Given the description of an element on the screen output the (x, y) to click on. 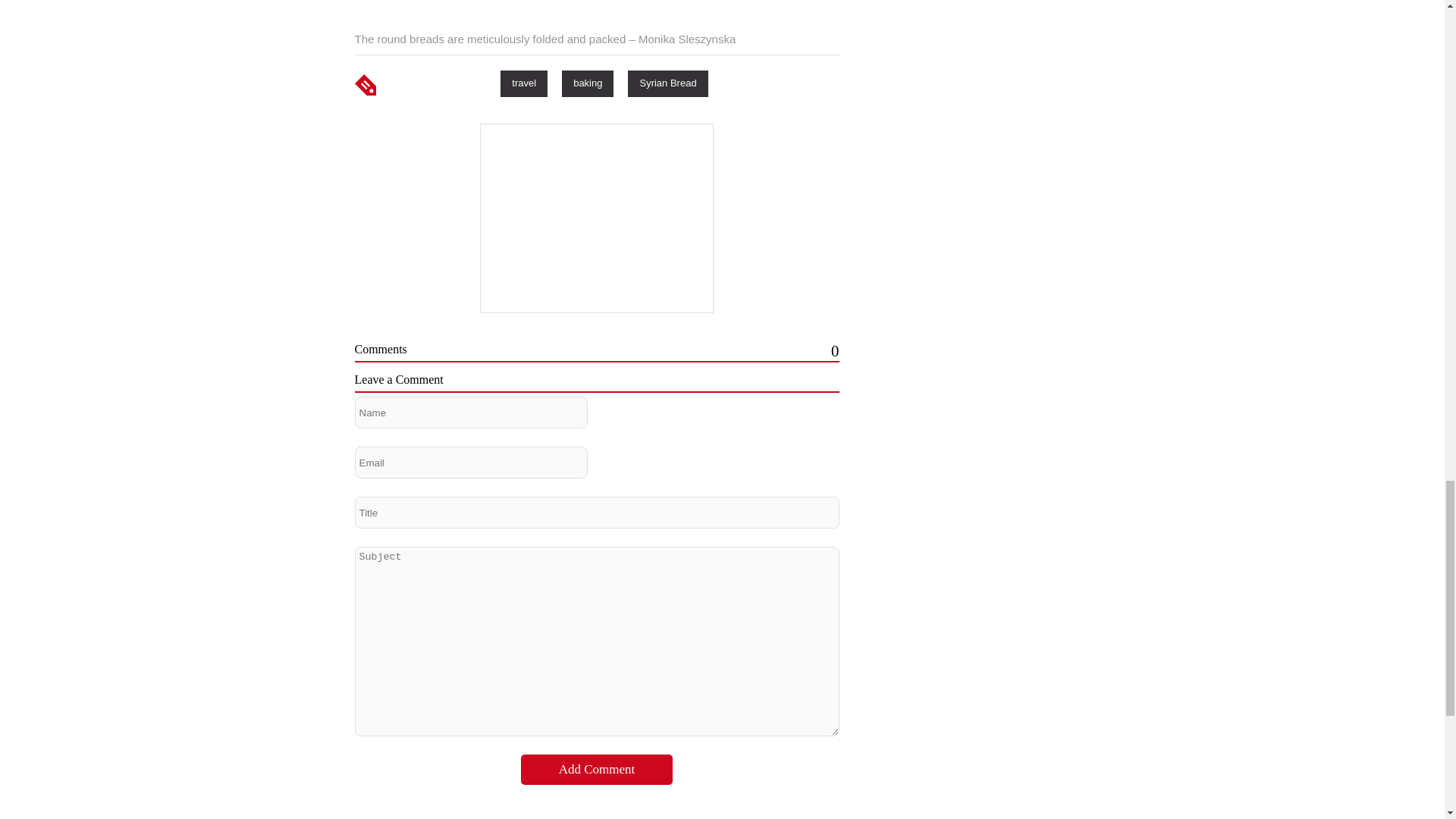
baking (587, 82)
Syrian Bread (667, 82)
travel (523, 82)
Add Comment (596, 769)
